Given the description of an element on the screen output the (x, y) to click on. 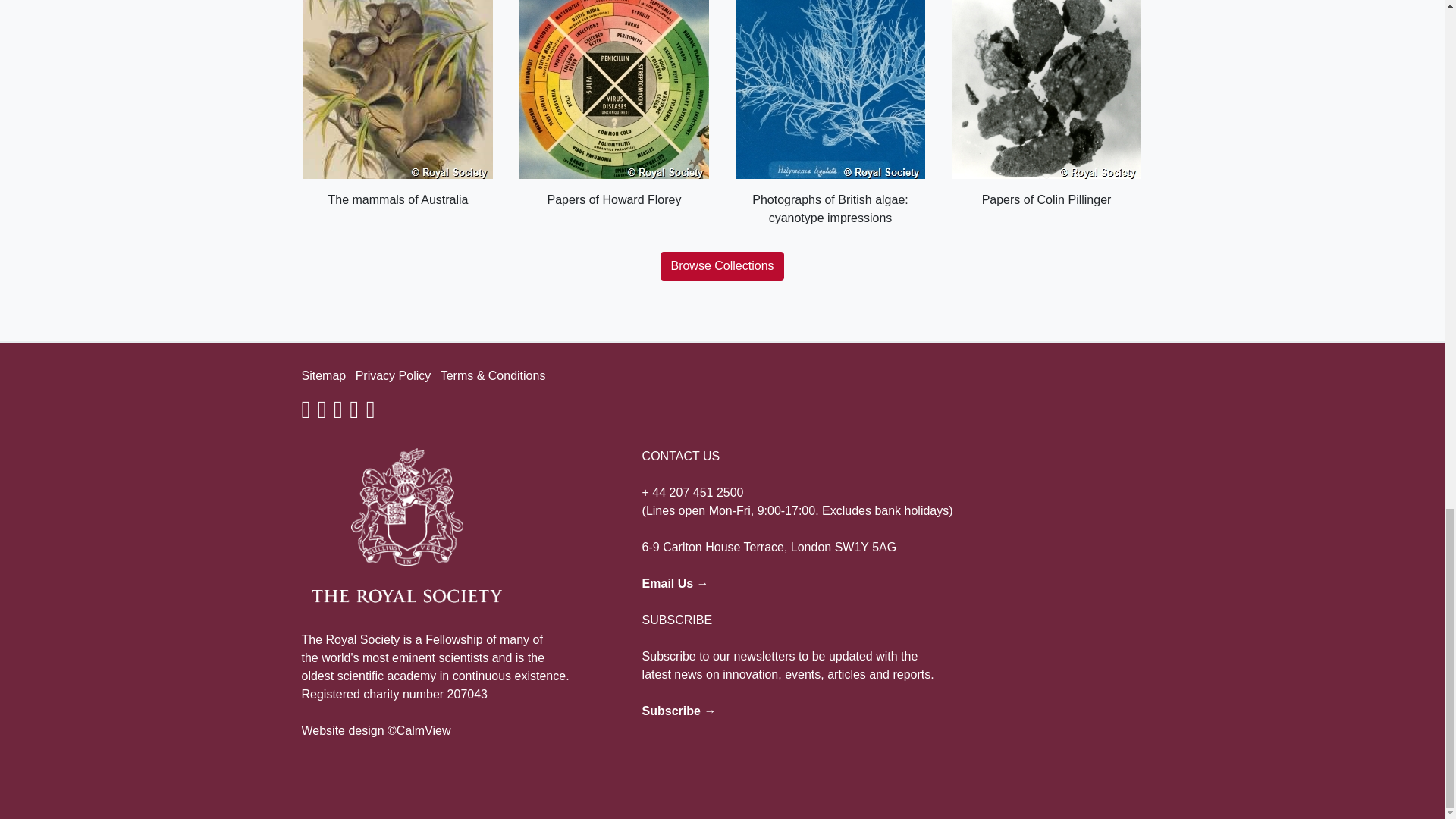
Browse Collections (722, 265)
Papers of Howard Florey (613, 104)
Privacy Policy (392, 375)
Papers of Colin Pillinger (1045, 104)
Sitemap (323, 375)
The mammals of Australia (398, 104)
